Given the description of an element on the screen output the (x, y) to click on. 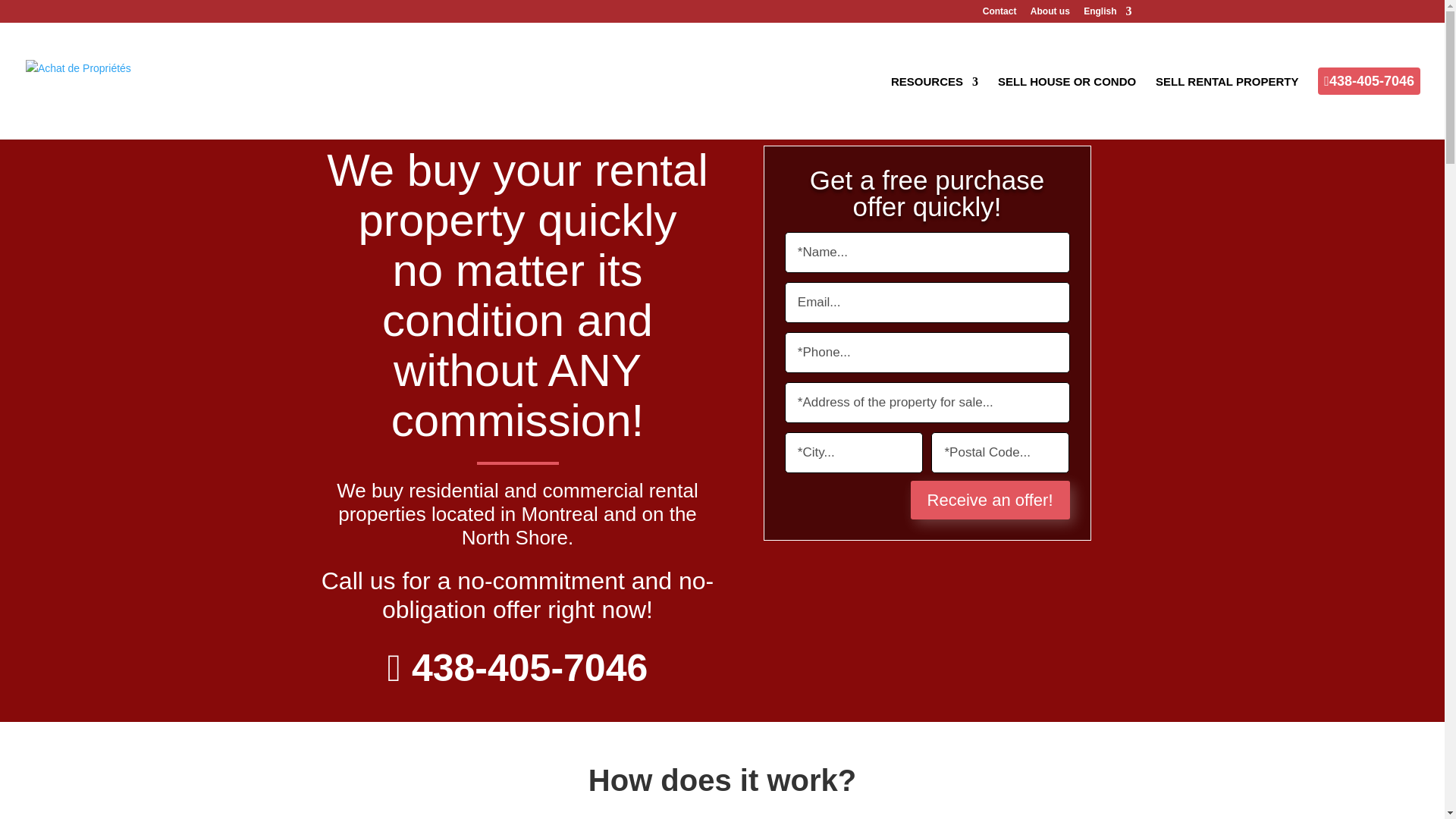
Receive an offer! (990, 499)
438-405-7046 (1369, 106)
Contact (999, 14)
SELL RENTAL PROPERTY (1227, 107)
RESOURCES (934, 107)
English (1107, 14)
English (1107, 14)
438-405-7046 (524, 668)
SELL HOUSE OR CONDO (1066, 107)
About us (1050, 14)
